Given the description of an element on the screen output the (x, y) to click on. 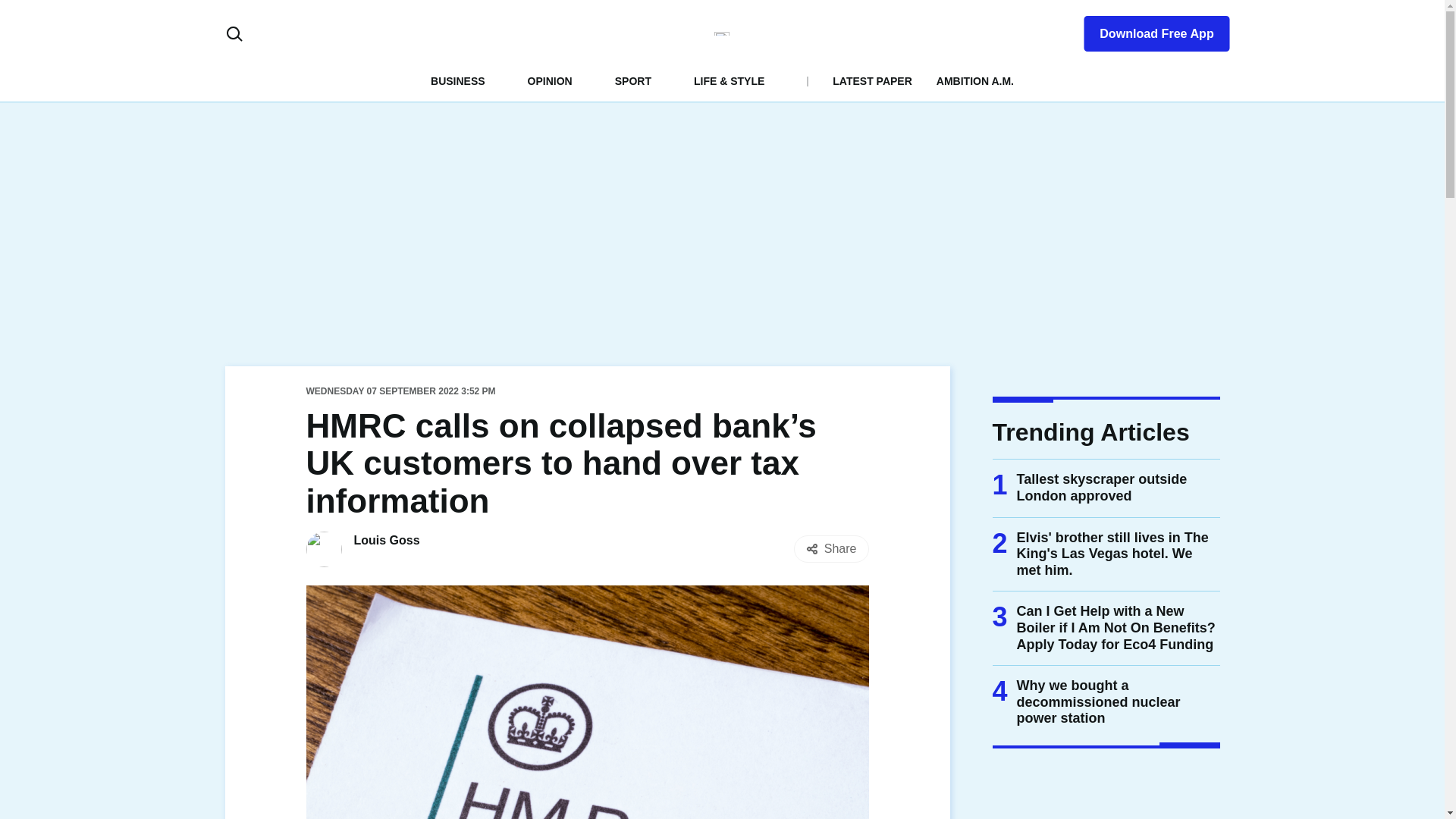
BUSINESS (457, 80)
Download Free App (1146, 30)
CityAM (721, 33)
OPINION (549, 80)
SPORT (632, 80)
